Given the description of an element on the screen output the (x, y) to click on. 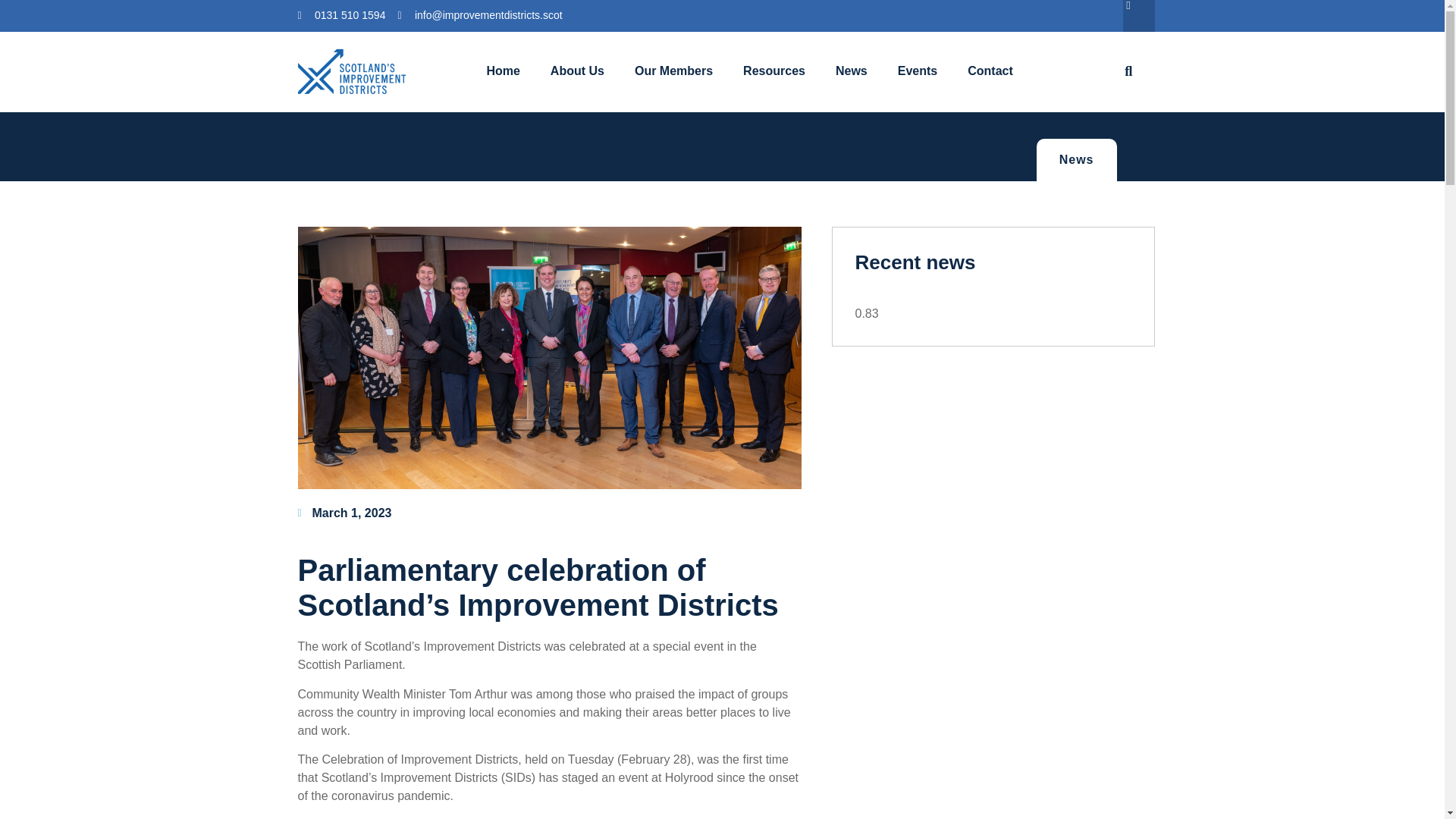
Events (917, 71)
0131 510 1594 (341, 15)
Resources (774, 71)
Contact (989, 71)
Home (502, 71)
News (851, 71)
Our Members (674, 71)
About Us (577, 71)
News (1076, 159)
